Given the description of an element on the screen output the (x, y) to click on. 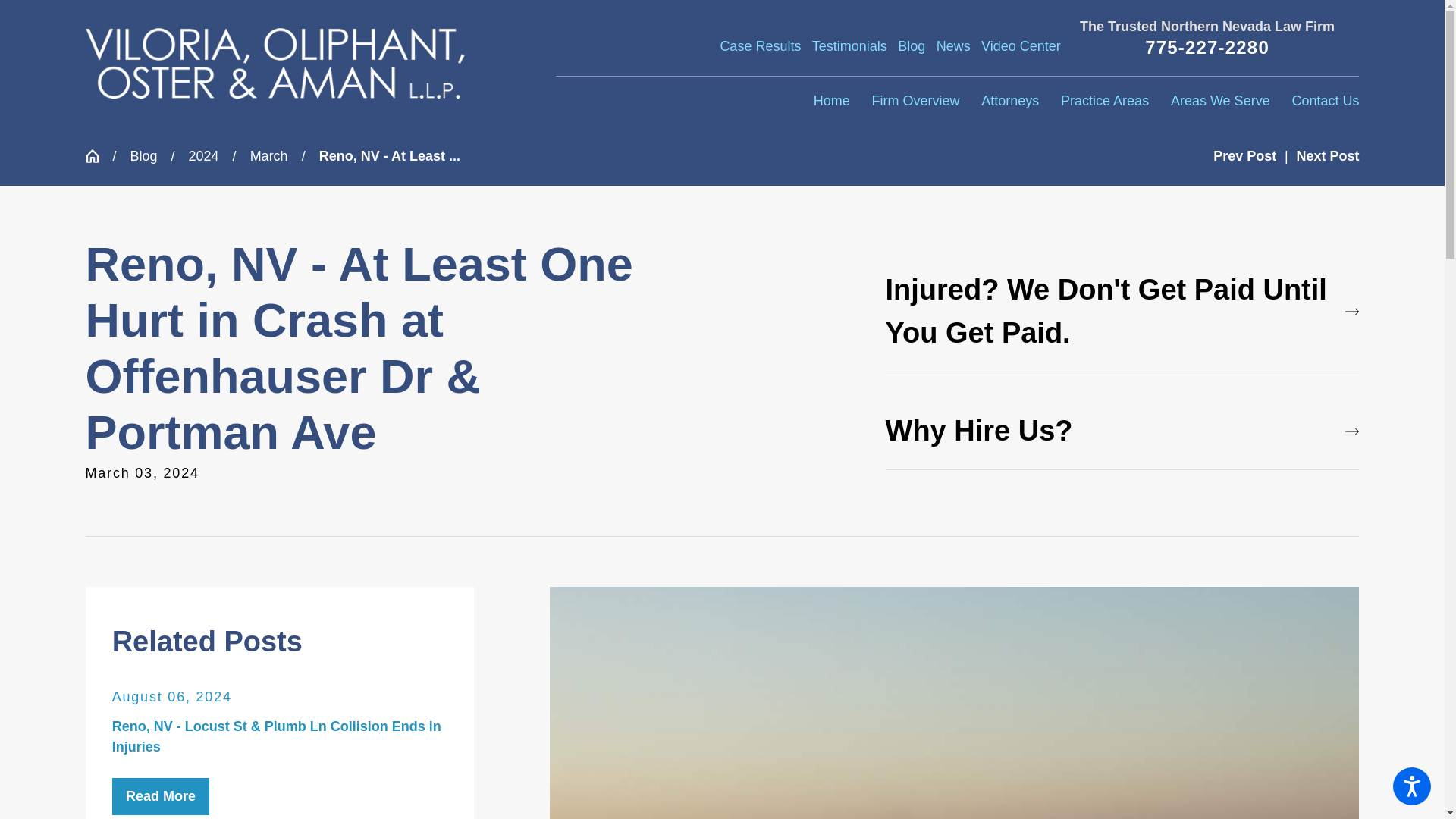
Attorneys (1010, 101)
Video Center (1021, 46)
Open the accessibility options menu (1412, 786)
Testimonials (849, 46)
Blog (911, 46)
Go Home (98, 155)
775-227-2280 (1207, 47)
Firm Overview (914, 101)
Practice Areas (1104, 101)
News (953, 46)
